Given the description of an element on the screen output the (x, y) to click on. 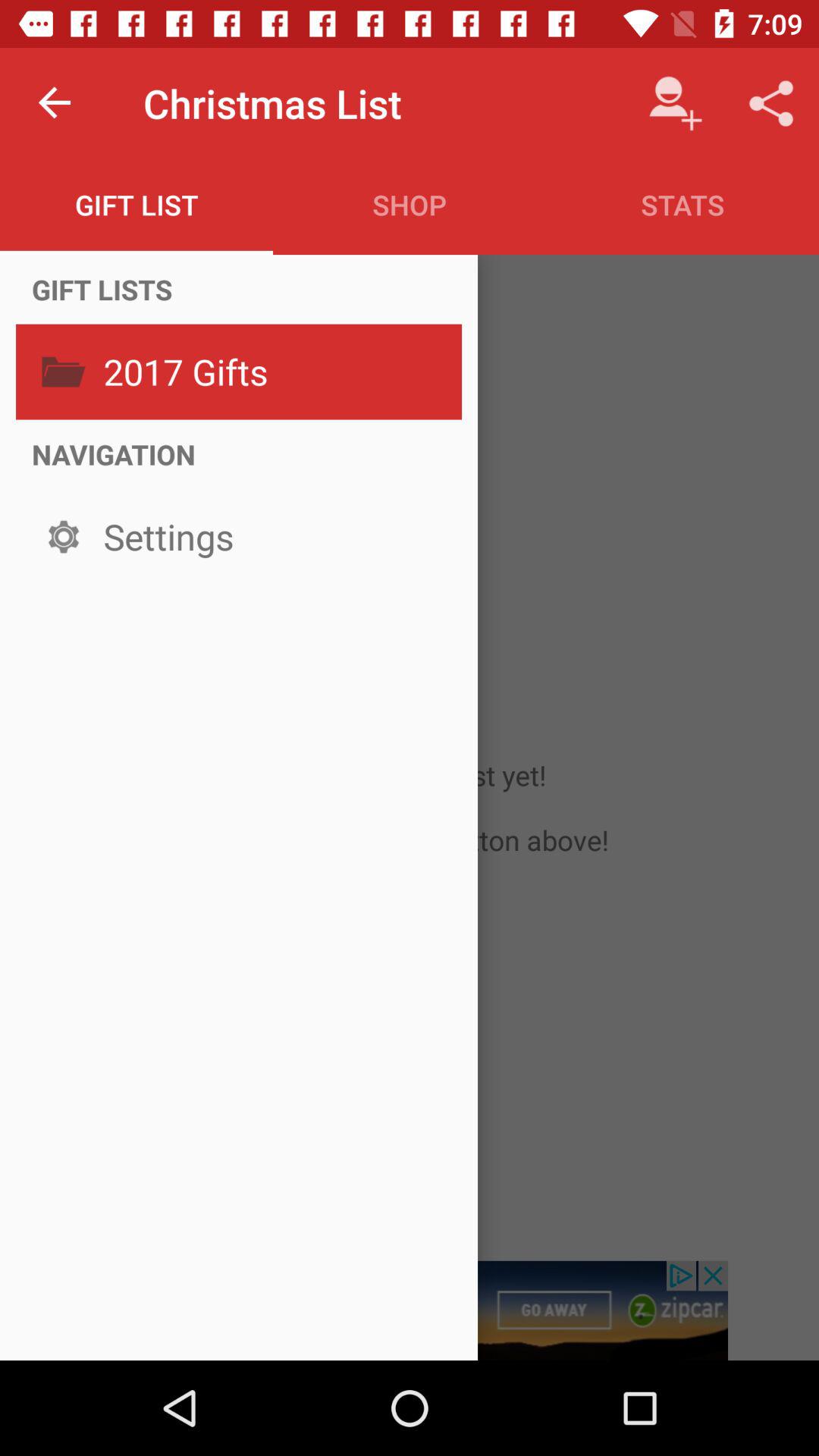
click on the advertisement below (409, 1310)
